Given the description of an element on the screen output the (x, y) to click on. 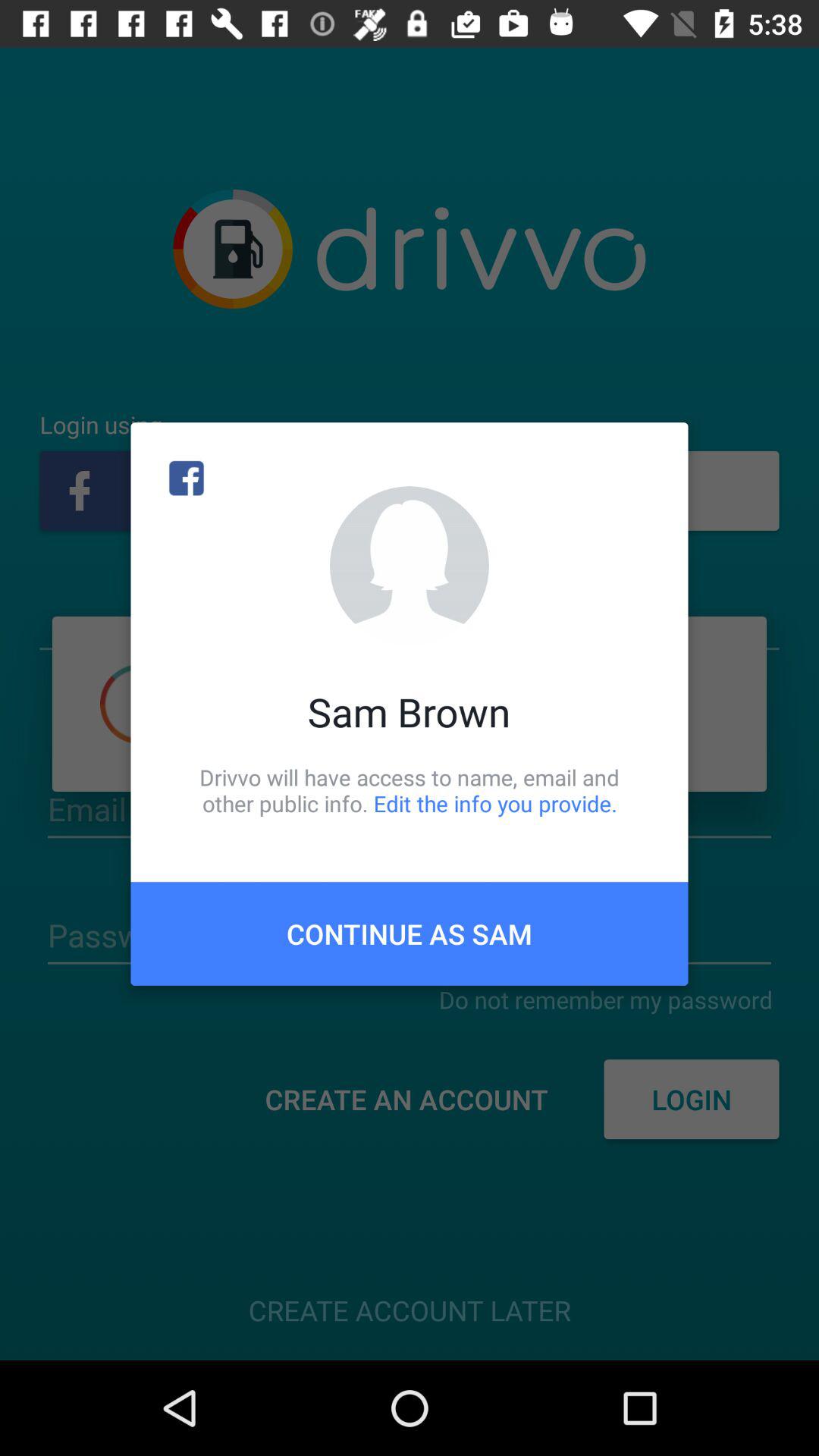
tap continue as sam icon (409, 933)
